Given the description of an element on the screen output the (x, y) to click on. 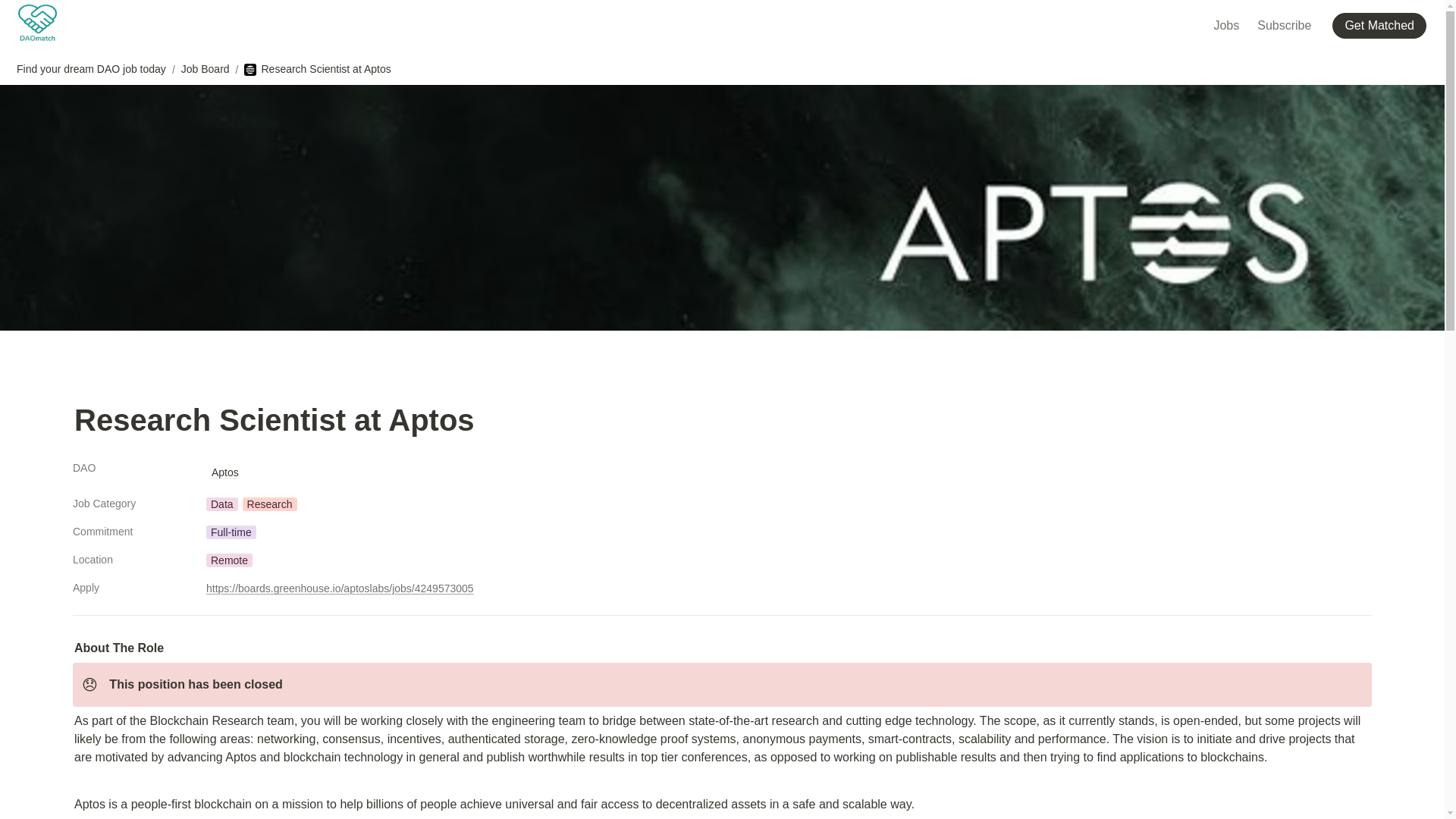
Aptos (224, 472)
Job Board (205, 69)
Find your dream DAO job today (90, 69)
Get Matched (1382, 24)
Research Scientist at Aptos (317, 69)
Subscribe (1283, 24)
Jobs (1225, 24)
